Given the description of an element on the screen output the (x, y) to click on. 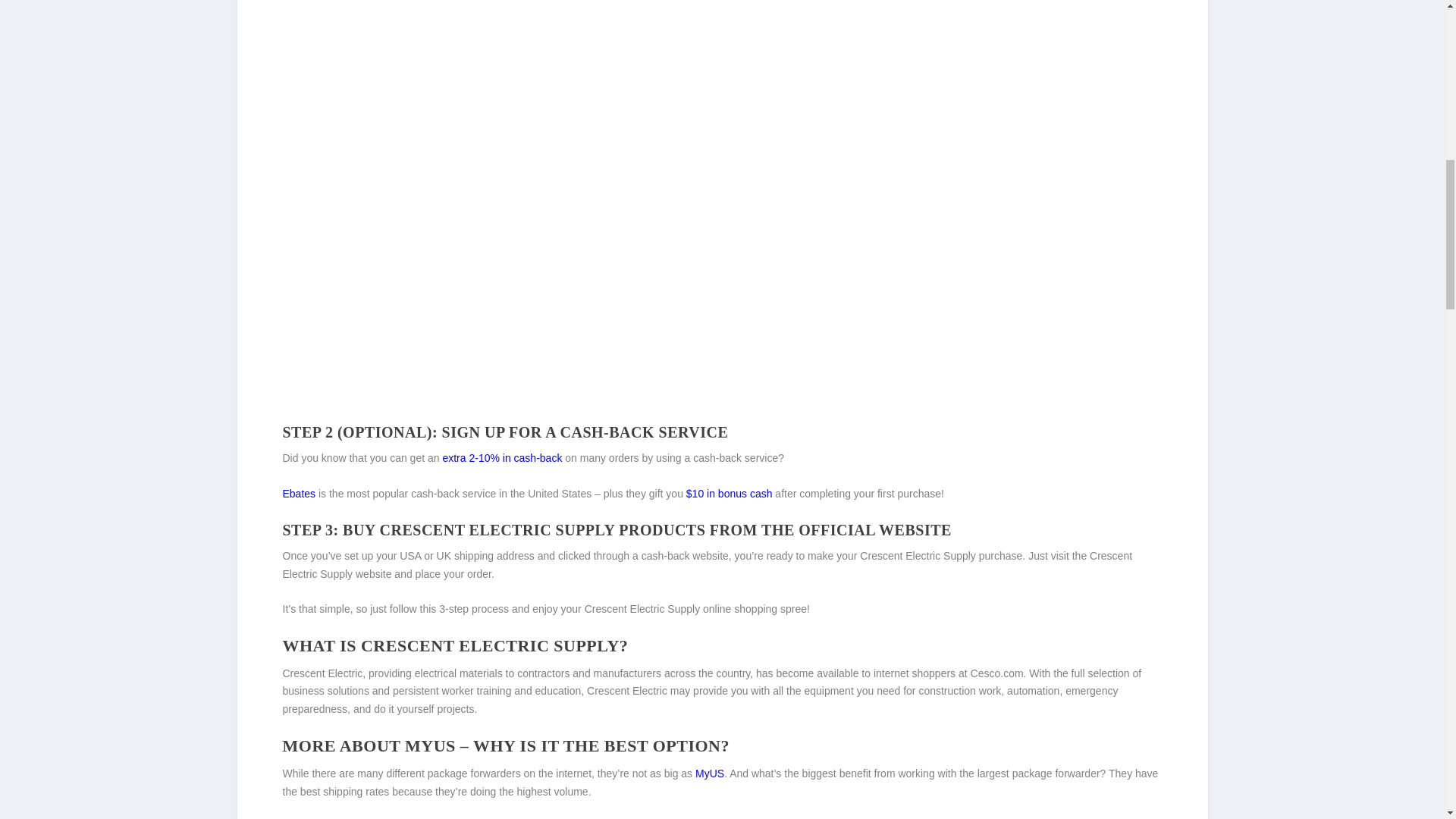
MyUS (709, 773)
Ebates (298, 493)
